Given the description of an element on the screen output the (x, y) to click on. 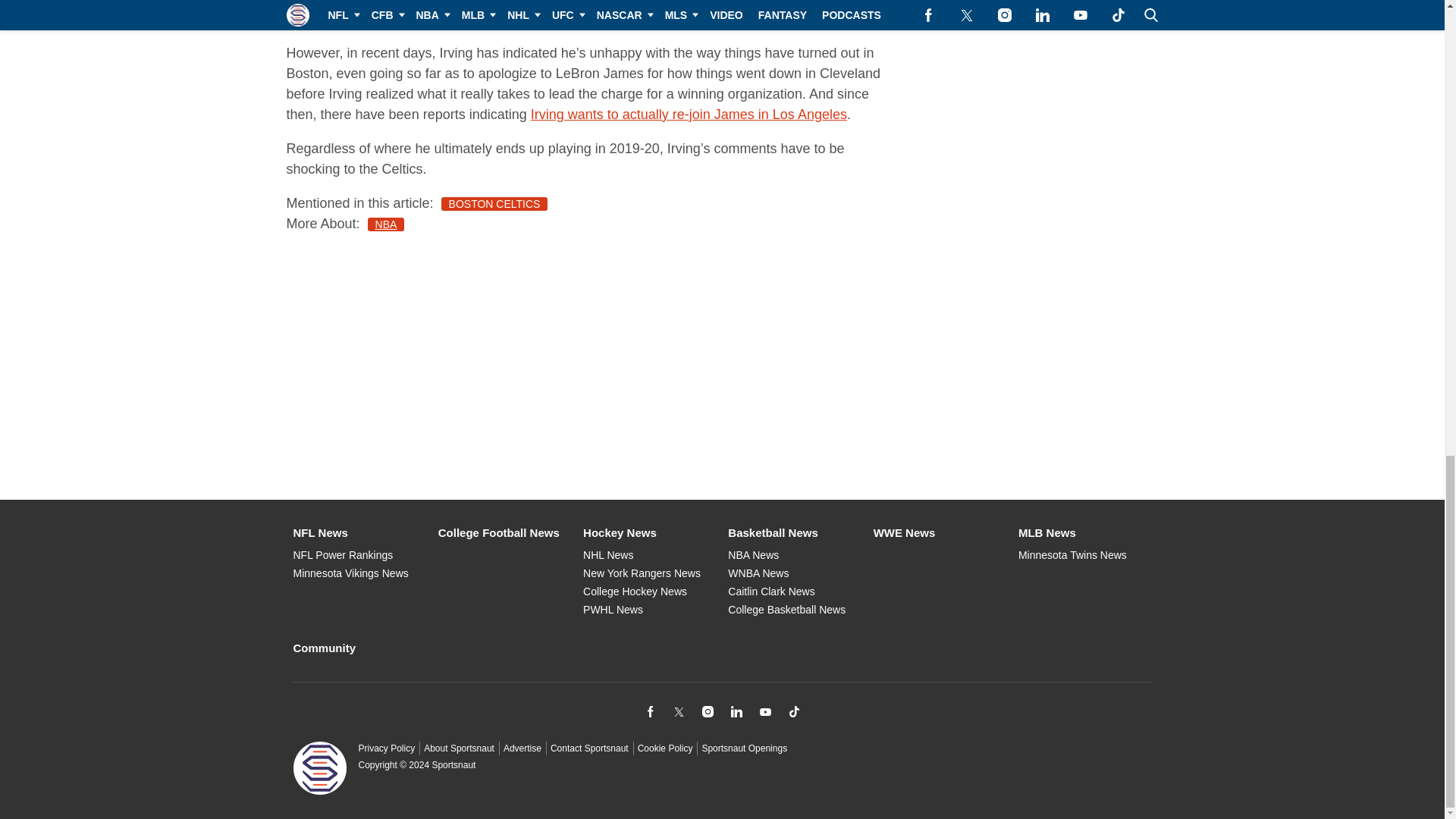
Follow us on Twitter (678, 712)
Follow us on Facebook (650, 712)
Connect with us on TikTok (794, 712)
Connect with us on LinkedIn (736, 712)
Subscribe to our YouTube channel (765, 712)
Follow us on Instagram (707, 712)
